Given the description of an element on the screen output the (x, y) to click on. 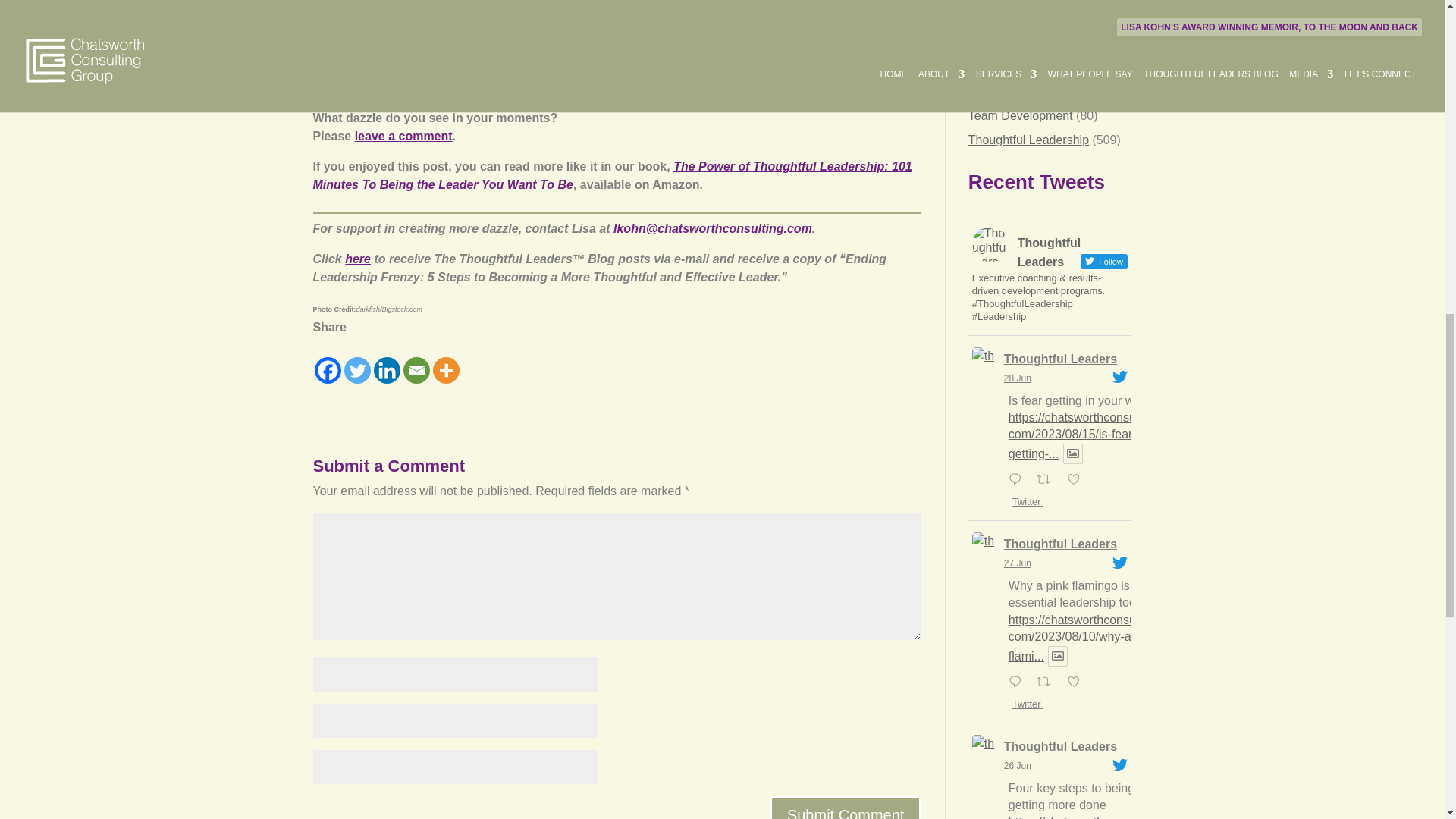
Submit Comment (845, 807)
